Given the description of an element on the screen output the (x, y) to click on. 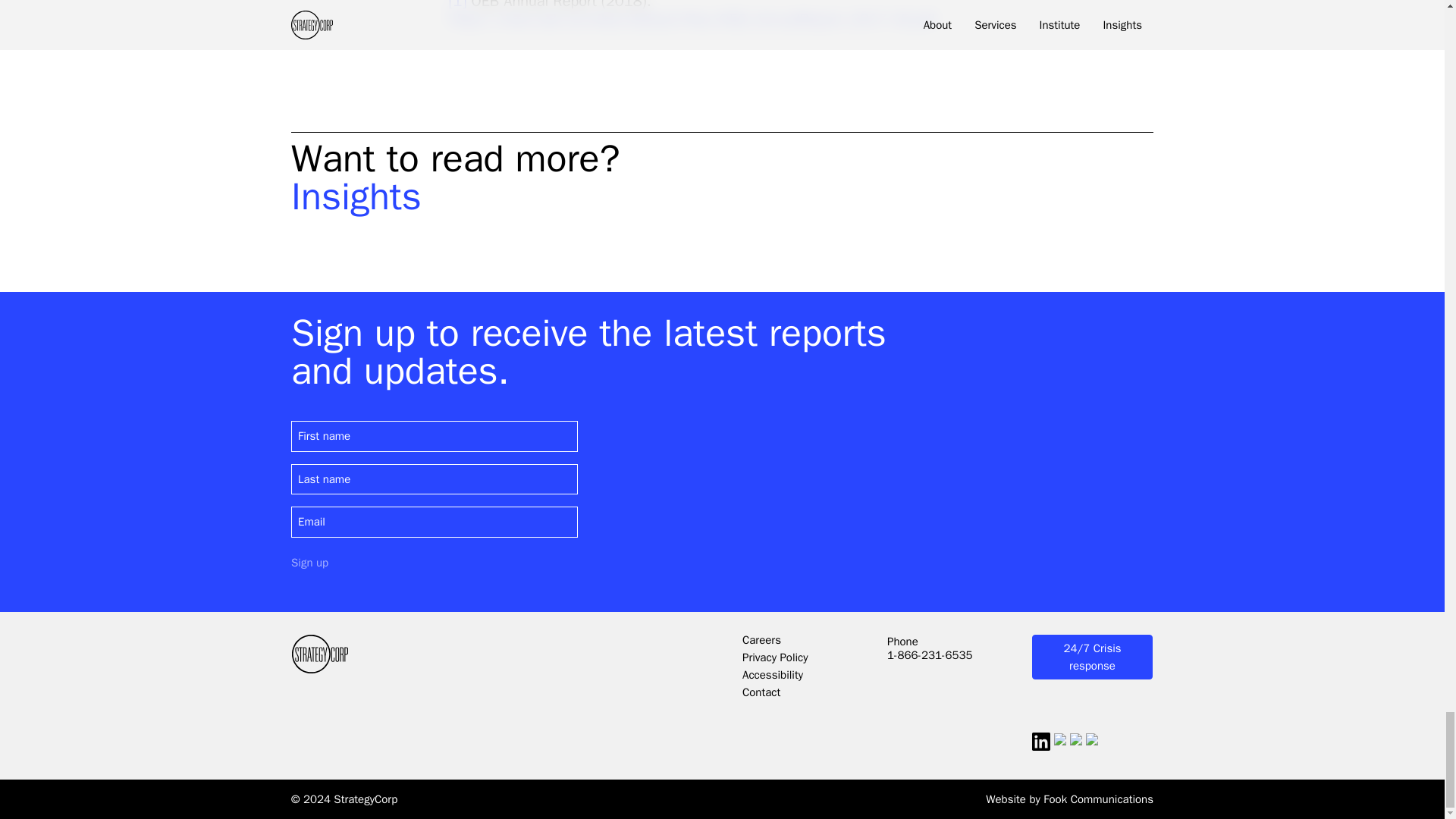
Sign up (310, 562)
